Given the description of an element on the screen output the (x, y) to click on. 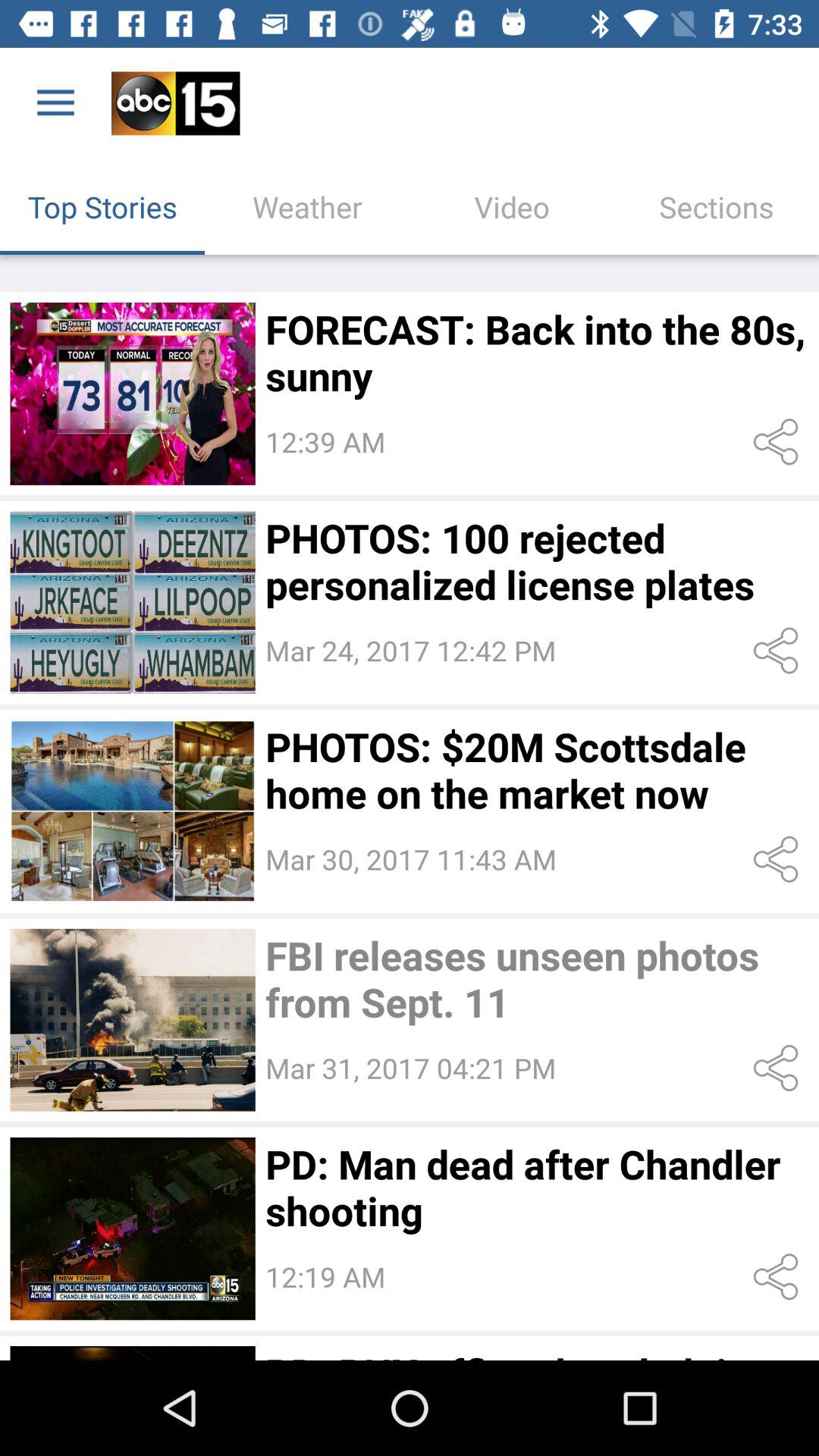
select an item (132, 393)
